Given the description of an element on the screen output the (x, y) to click on. 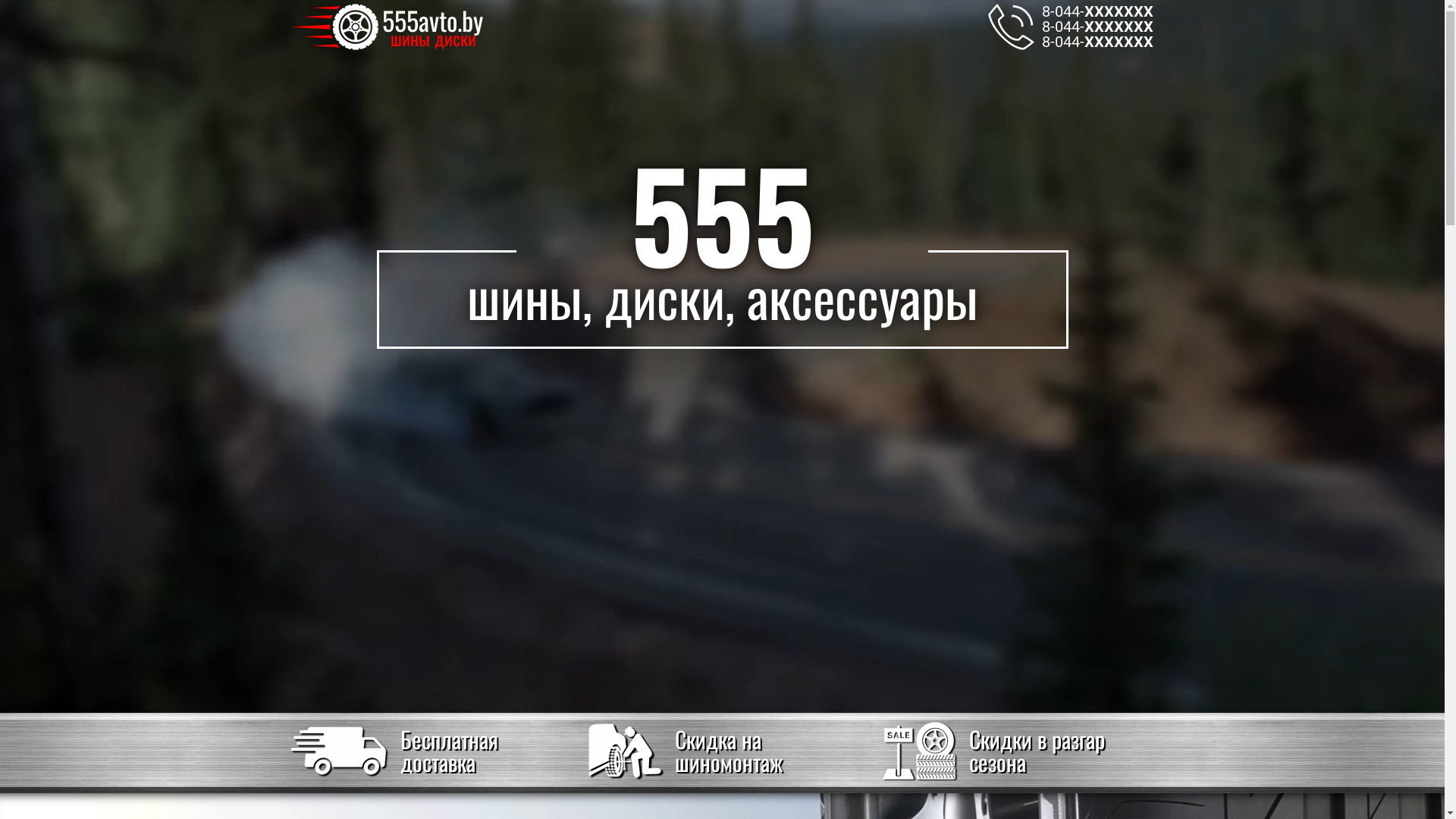
8-044-XXXXXXX Element type: text (1097, 26)
8-044-XXXXXXX Element type: text (1097, 41)
8-044-XXXXXXX Element type: text (1097, 11)
